Given the description of an element on the screen output the (x, y) to click on. 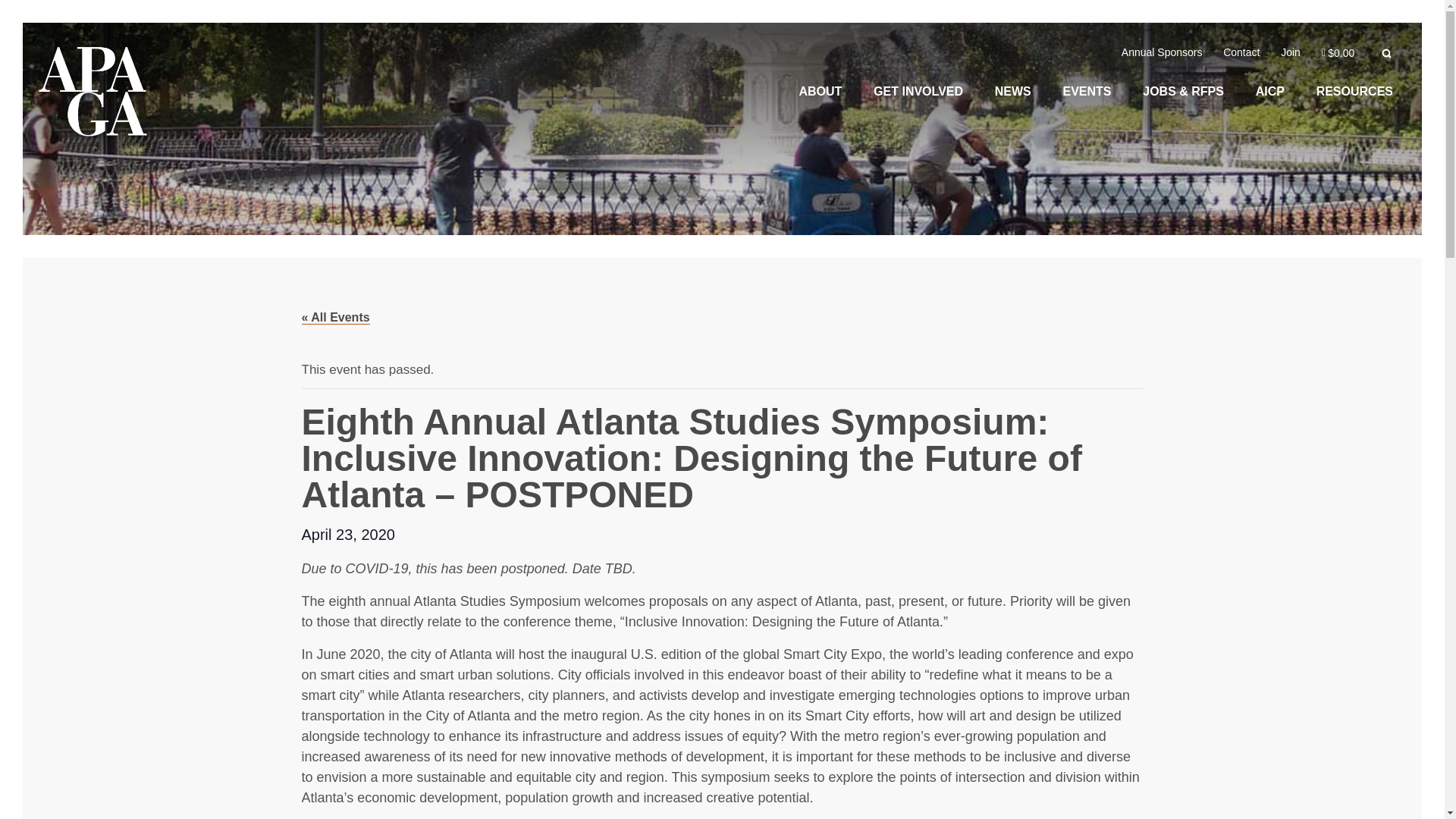
Annual Sponsors (1161, 52)
Contact (1240, 52)
Georgia Planning Association (92, 94)
Start shopping (1338, 52)
ABOUT (819, 91)
GET INVOLVED (918, 91)
NEWS (1012, 91)
Join (1289, 52)
